Given the description of an element on the screen output the (x, y) to click on. 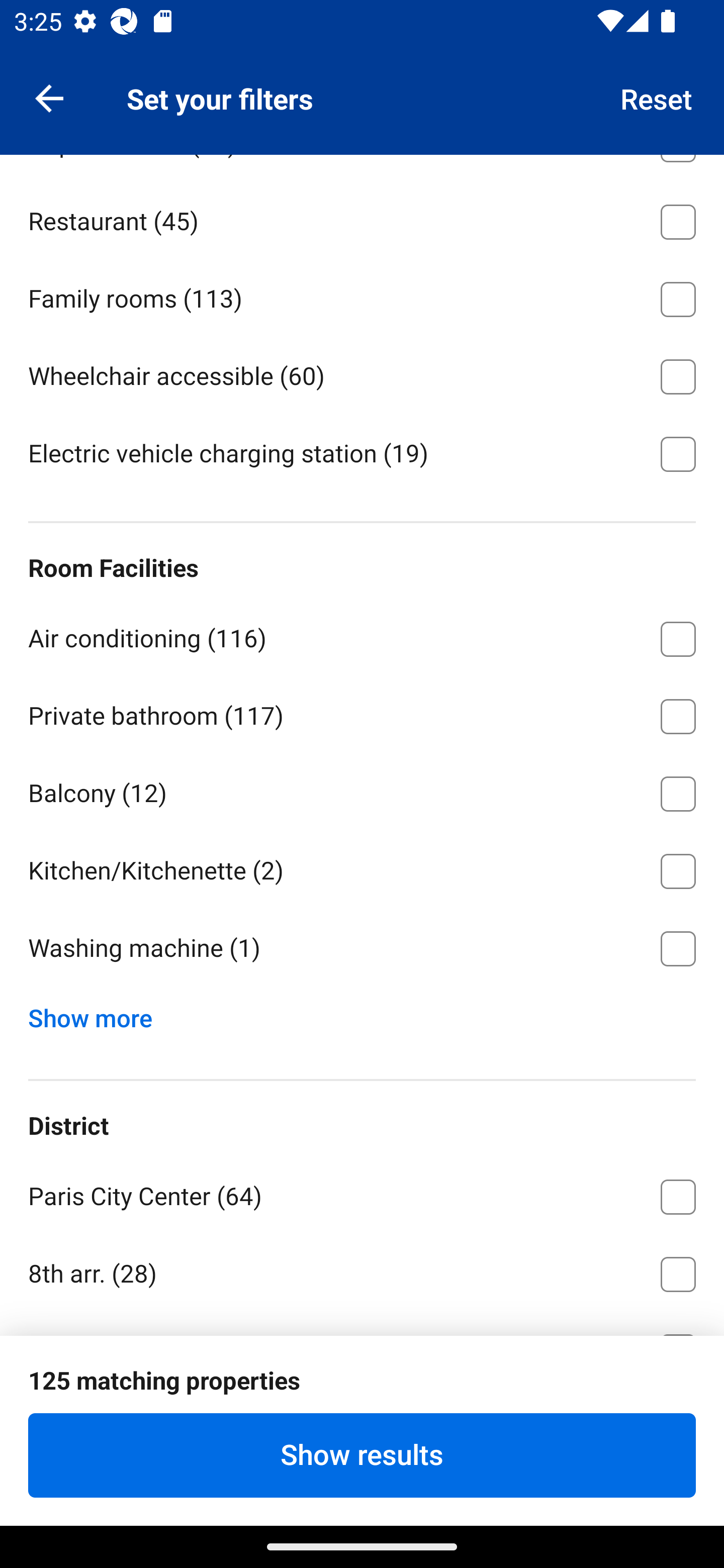
Navigate up (49, 97)
Reset (656, 97)
Restaurant ⁦(45) (361, 218)
Family rooms ⁦(113) (361, 295)
Wheelchair accessible ⁦(60) (361, 372)
Electric vehicle charging station ⁦(19) (361, 452)
Air conditioning ⁦(116) (361, 635)
Private bathroom ⁦(117) (361, 712)
Balcony ⁦(12) (361, 790)
Kitchen/Kitchenette ⁦(2) (361, 867)
Washing machine ⁦(1) (361, 948)
Show more (97, 1013)
Paris City Center ⁦(64) (361, 1193)
8th arr. ⁦(28) (361, 1270)
Show results (361, 1454)
